Given the description of an element on the screen output the (x, y) to click on. 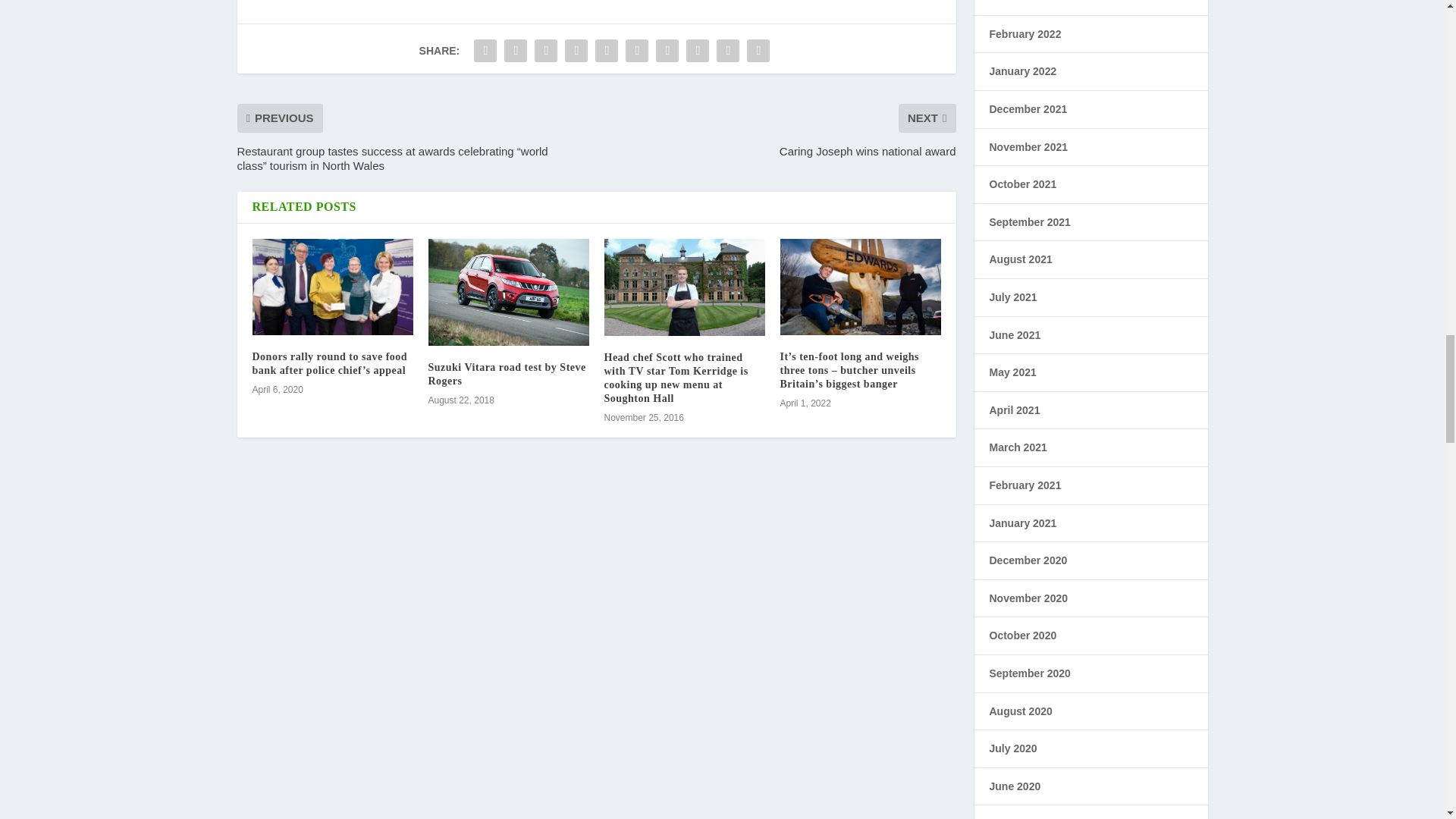
Suzuki Vitara road test by Steve Rogers (508, 292)
Suzuki Vitara road test by Steve Rogers (506, 373)
